Given the description of an element on the screen output the (x, y) to click on. 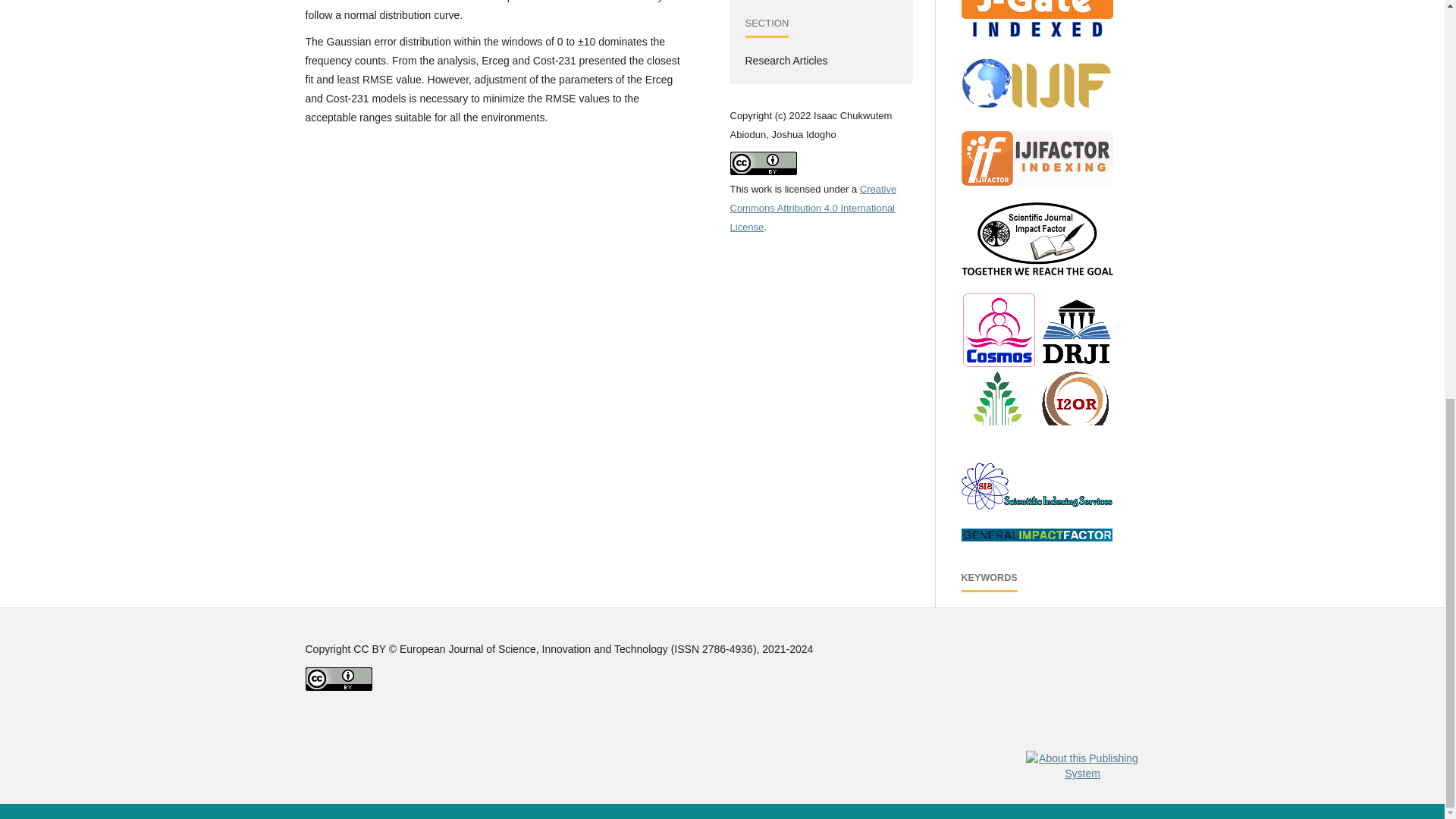
IJIFactor (1036, 158)
Databases (1036, 368)
J-Gate (1036, 18)
Databases2 (1036, 504)
SJIF (1036, 238)
IIJIF (1036, 84)
